Given the description of an element on the screen output the (x, y) to click on. 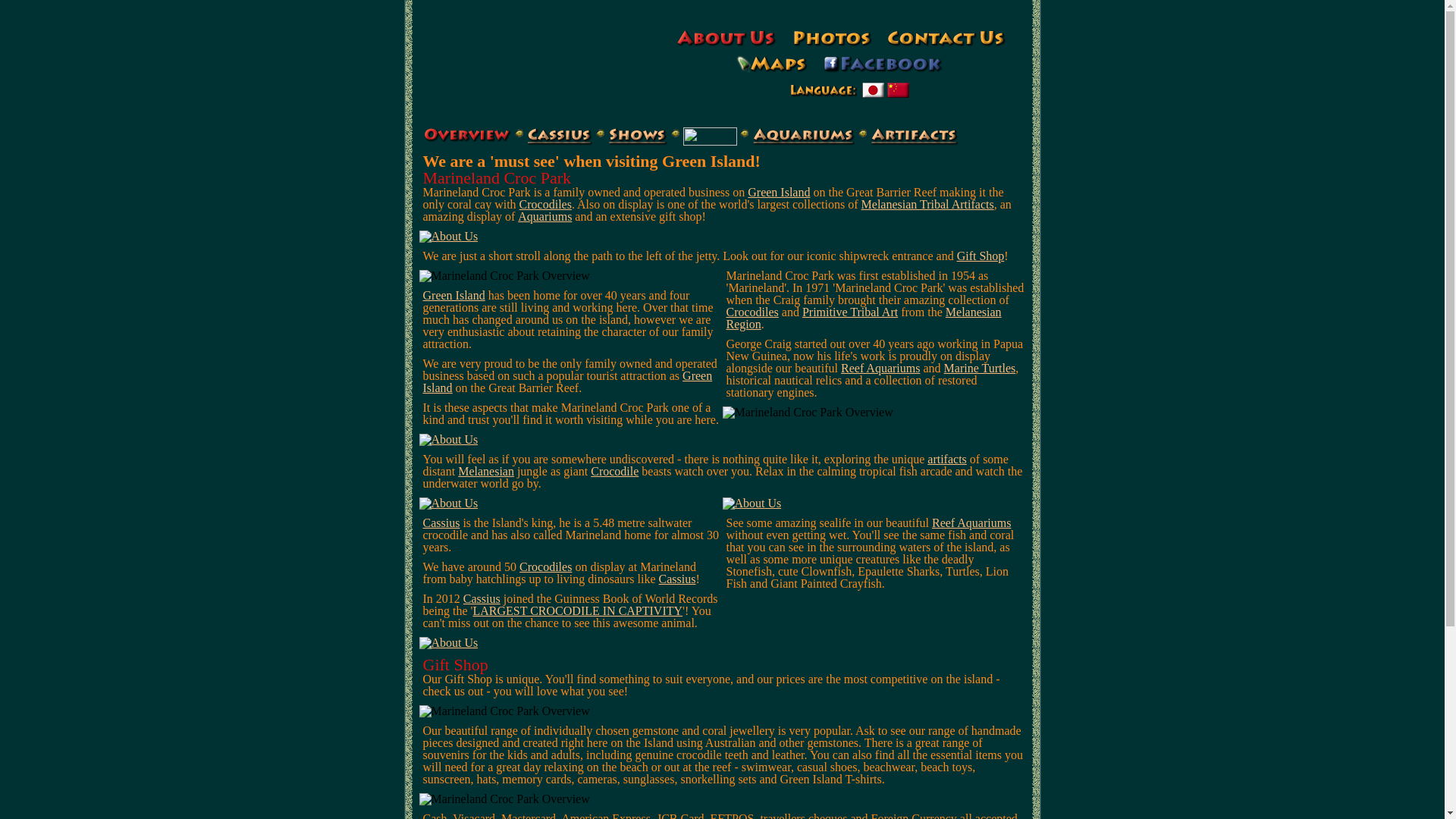
Crocodiles Element type: text (545, 566)
Reef Aquariums Element type: text (970, 522)
Marine Turtles Element type: text (980, 367)
Crocodiles Element type: text (545, 203)
Melanesian Region Element type: text (863, 317)
Green Island Element type: text (778, 191)
Gift Shop Element type: text (980, 255)
Cassius Element type: text (481, 598)
Crocodile Element type: text (614, 470)
Reef Aquariums Element type: text (879, 367)
Primitive Tribal Art Element type: text (849, 311)
Green Island Element type: text (454, 294)
Green Island Element type: text (567, 381)
artifacts Element type: text (946, 458)
Cassius Element type: text (441, 522)
Melanesian Tribal Artifacts Element type: text (927, 203)
LARGEST CROCODILE IN CAPTIVITY Element type: text (577, 610)
Melanesian Element type: text (486, 470)
Cassius Element type: text (677, 578)
Crocodiles Element type: text (752, 311)
Aquariums Element type: text (544, 216)
